Given the description of an element on the screen output the (x, y) to click on. 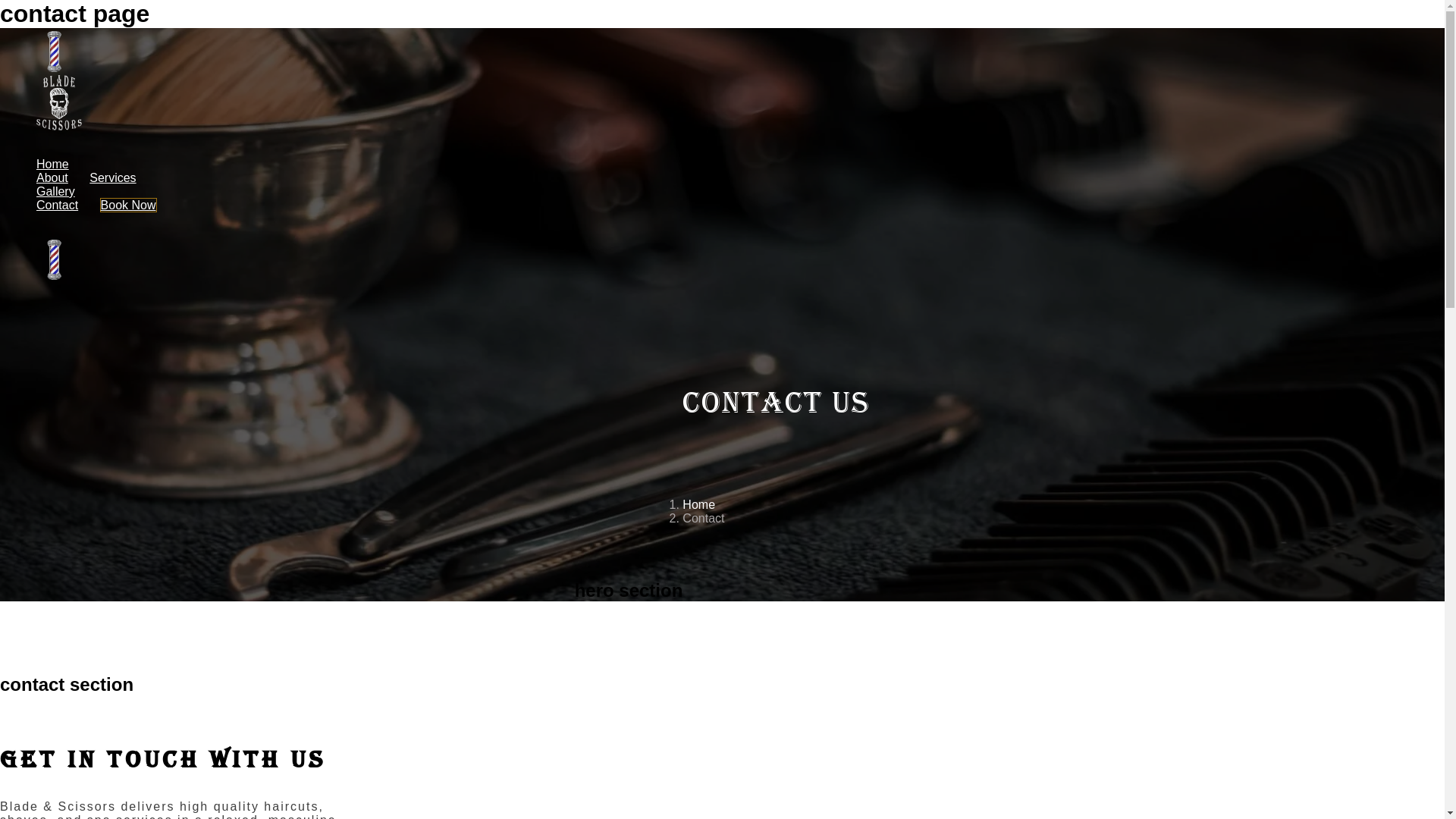
Home Element type: text (698, 504)
Gallery Element type: text (55, 191)
Book Now Element type: text (128, 204)
Services Element type: text (112, 177)
About Element type: text (52, 177)
Contact Element type: text (57, 204)
Home Element type: text (52, 163)
